Given the description of an element on the screen output the (x, y) to click on. 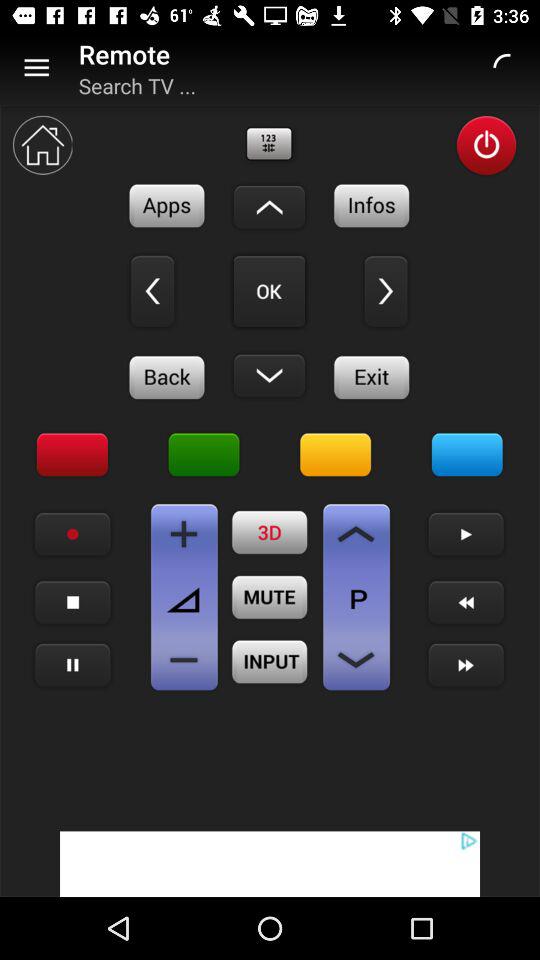
stop video playback (72, 602)
